Given the description of an element on the screen output the (x, y) to click on. 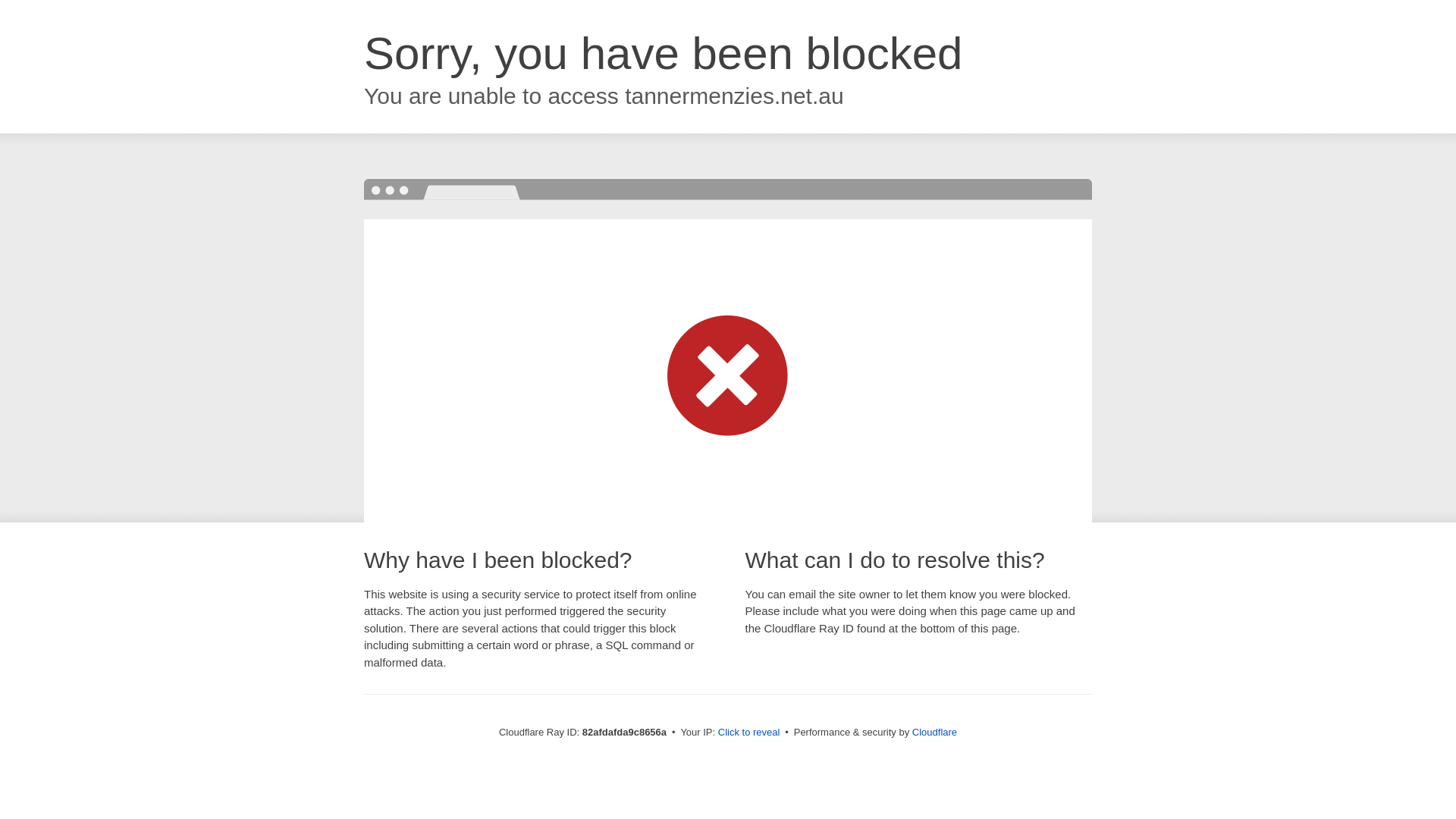
Cloudflare Element type: text (934, 731)
Click to reveal Element type: text (749, 732)
